Given the description of an element on the screen output the (x, y) to click on. 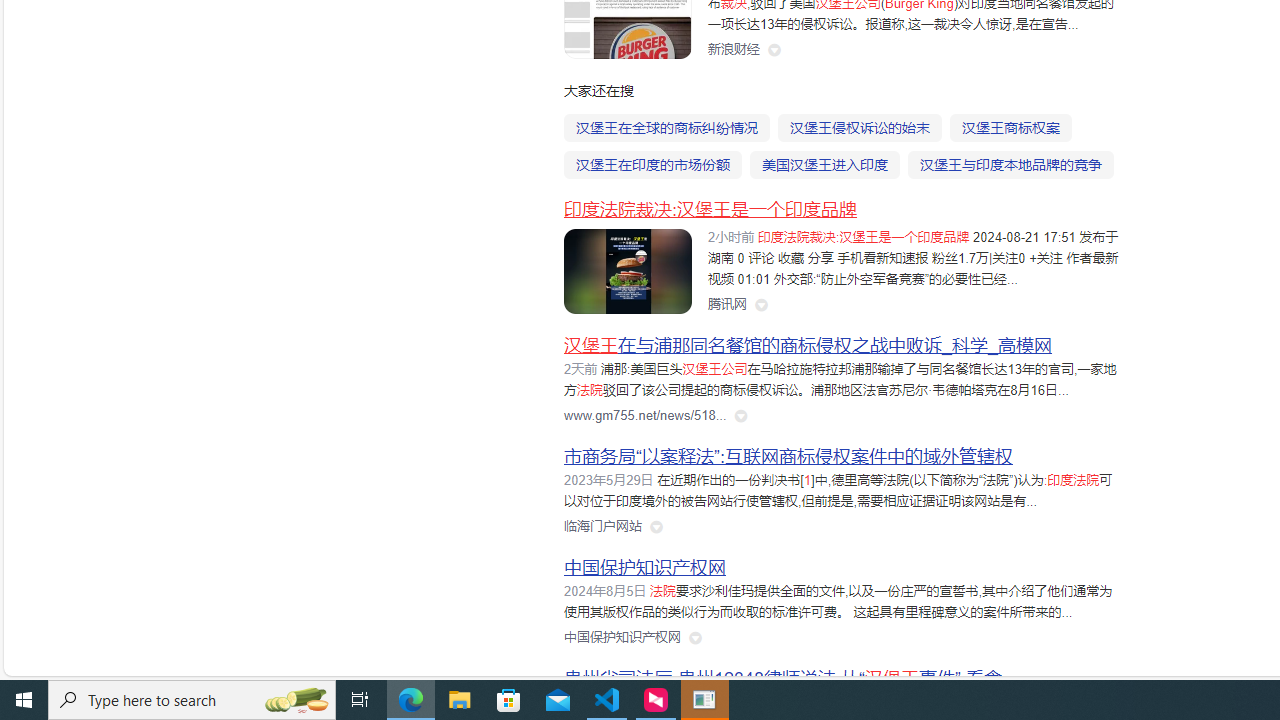
Class: siteLink_9TPP3 (622, 637)
